Given the description of an element on the screen output the (x, y) to click on. 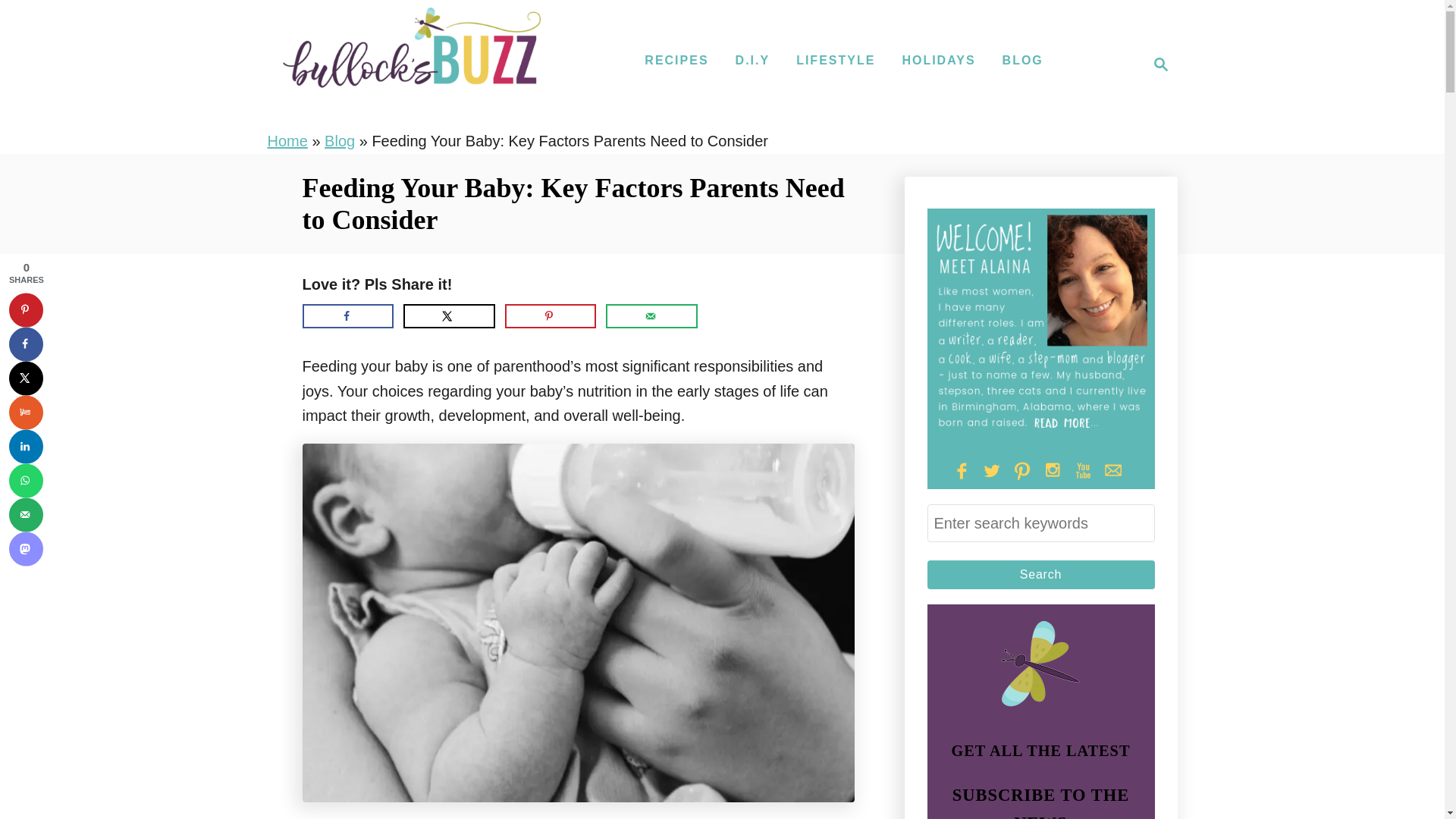
Search (1040, 574)
Blog (339, 140)
Magnifying Glass (1160, 64)
Share on X (25, 377)
Search for: (1040, 523)
Share on X (449, 315)
Save to Pinterest (25, 309)
Home (286, 140)
LIFESTYLE (835, 60)
Send over email (1155, 64)
D.I.Y (651, 315)
BLOG (752, 60)
Search (1022, 60)
Share on Facebook (1040, 574)
